Given the description of an element on the screen output the (x, y) to click on. 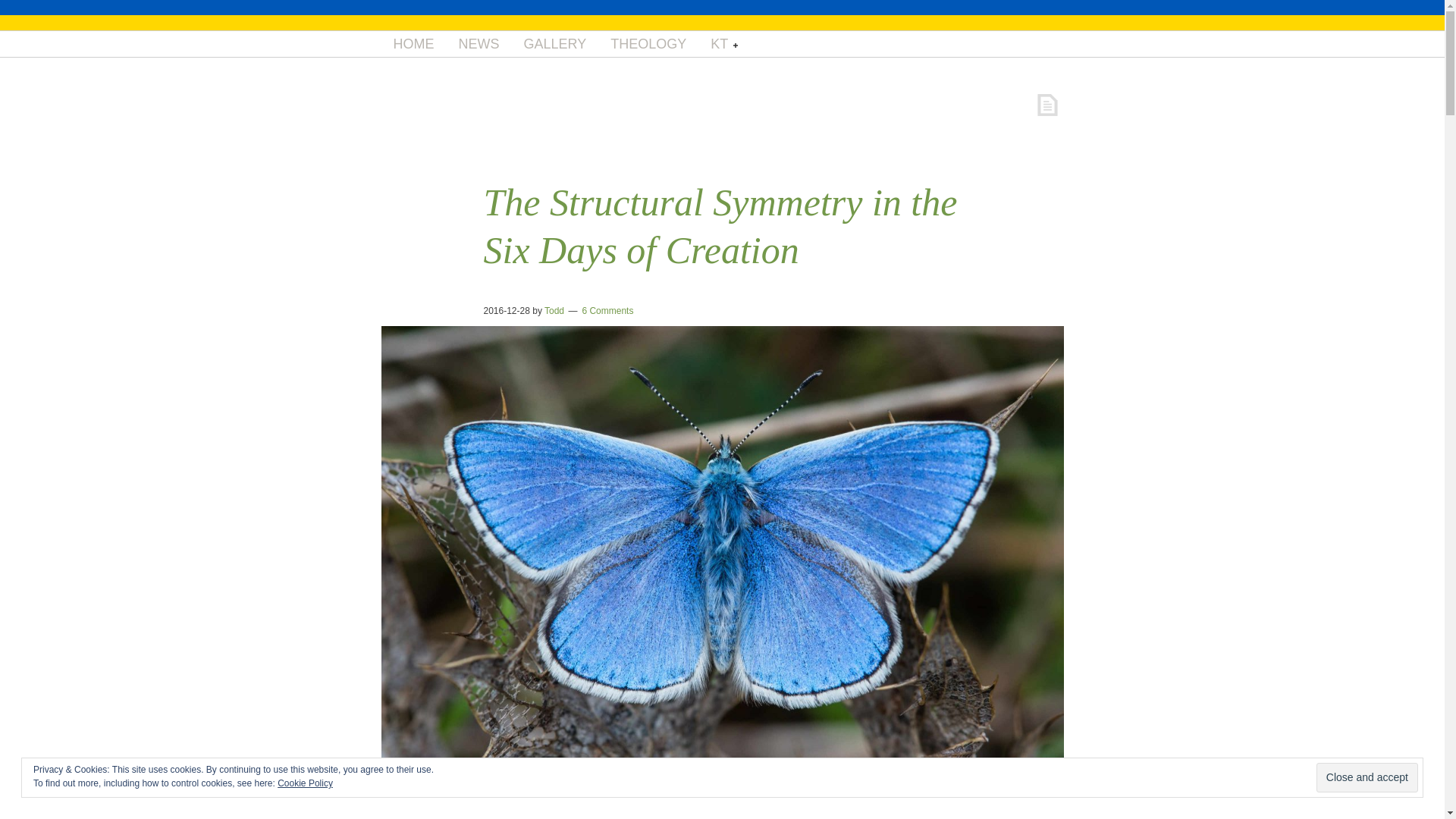
Pictures (554, 43)
6 Comments (606, 310)
About us (412, 43)
KT (723, 43)
Close and accept (1367, 777)
HOME (412, 43)
The Structural Symmetry in the Six Days of Creation (720, 225)
Theology Kiosk (648, 43)
The blog (478, 43)
Todd (554, 310)
